Given the description of an element on the screen output the (x, y) to click on. 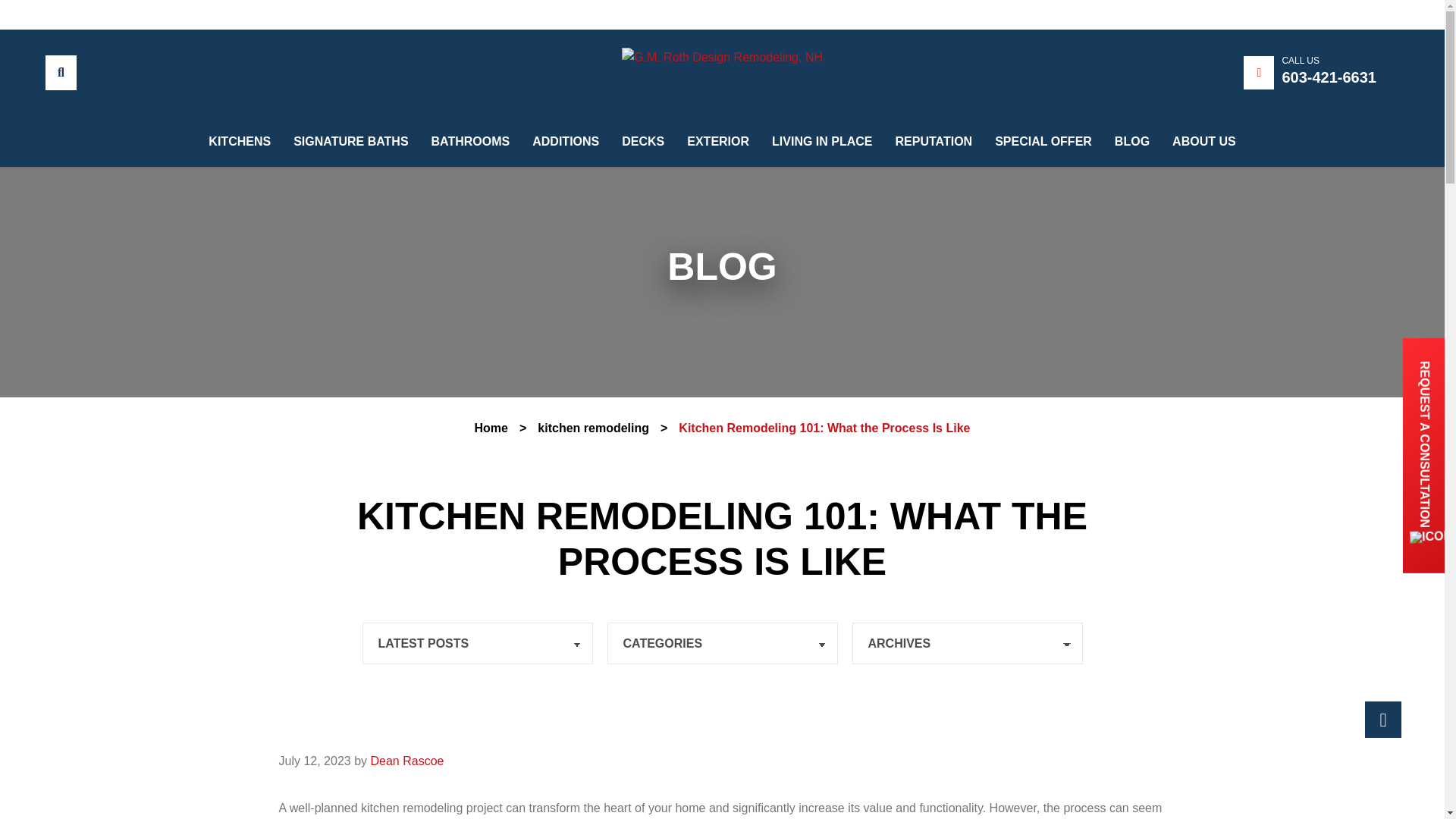
Visit Our Twitter Page (123, 10)
Visit Our Pinterest Page (149, 11)
Visit Our Houzz Page (174, 11)
REPUTATION (933, 109)
LIVING IN PLACE (821, 96)
EXTERIOR (718, 70)
Visit Our Google Business Profile (71, 6)
Visit Our Instagram Page (97, 8)
G.M. Roth Design Remodeling (721, 56)
